Given the description of an element on the screen output the (x, y) to click on. 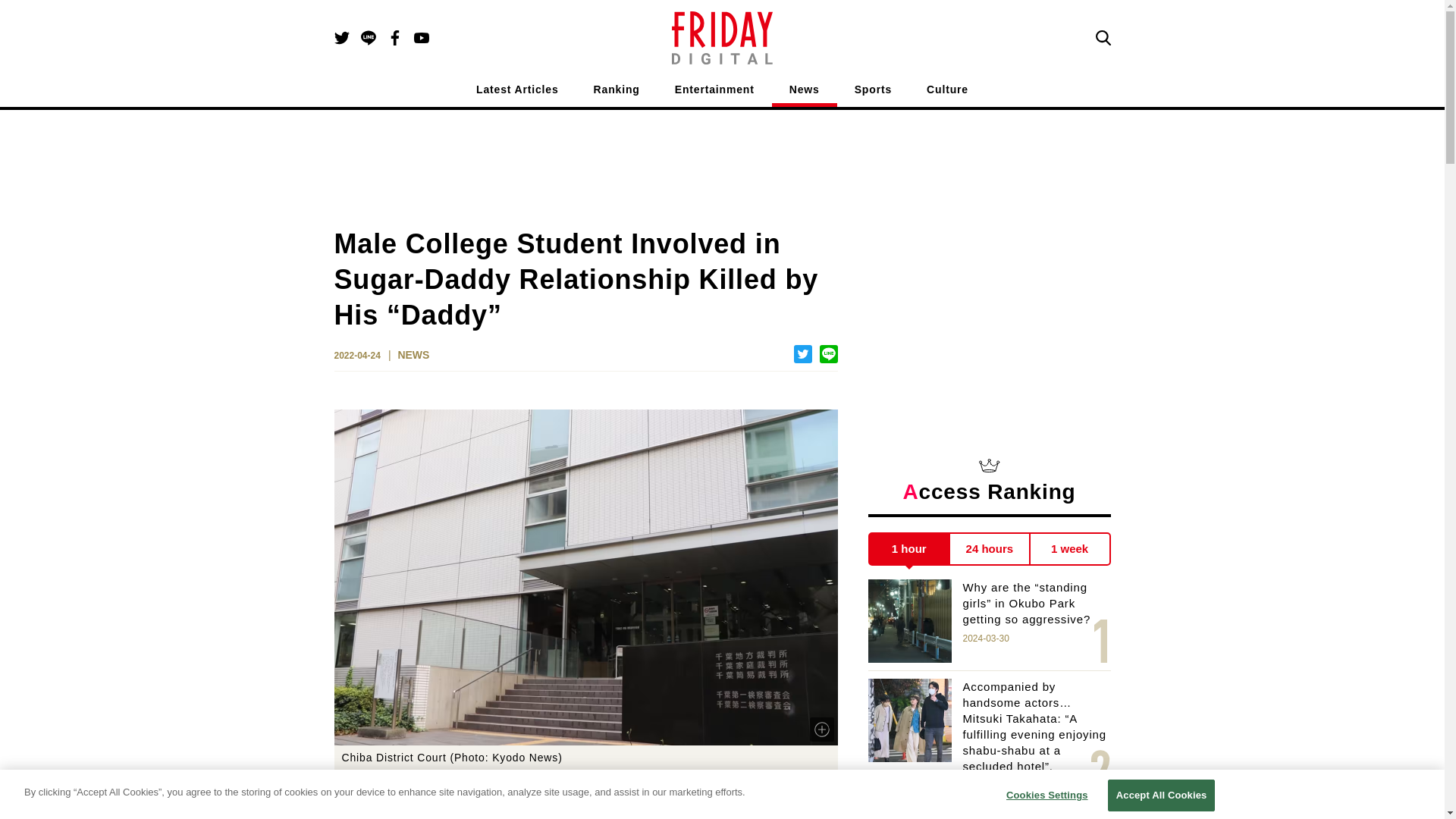
NEWS (413, 355)
1 hour (908, 548)
24 hours (989, 548)
Culture (946, 92)
News (804, 92)
Sports (872, 92)
Latest Articles (517, 92)
Ranking (617, 92)
Entertainment (714, 92)
1 week (1069, 548)
